Given the description of an element on the screen output the (x, y) to click on. 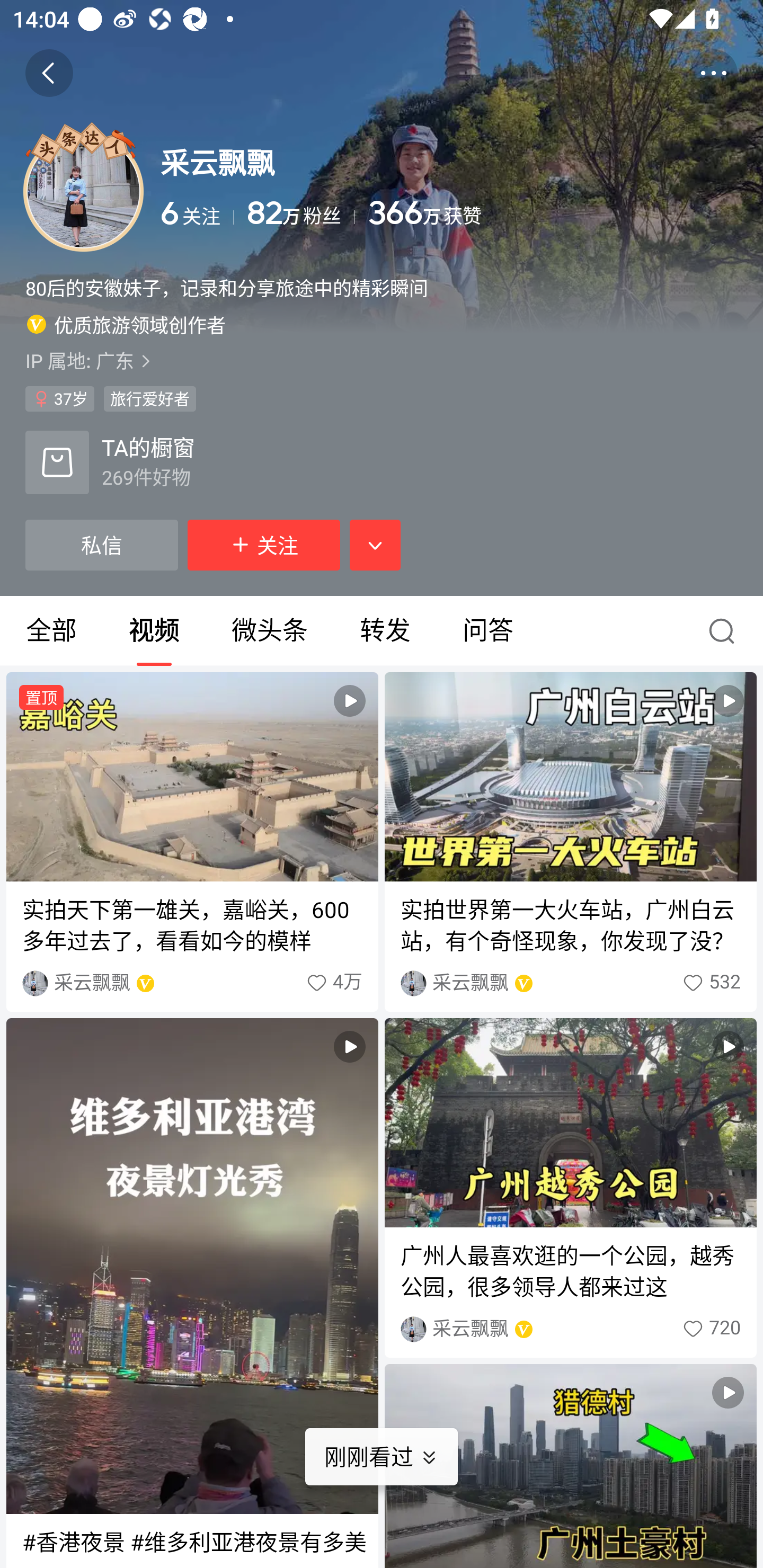
返回 (49, 72)
更多操作 (713, 72)
头像 (83, 191)
6 关注 (197, 213)
82万 粉丝 (300, 213)
366万 获赞 (552, 213)
优质旅游领域创作者 (125, 324)
IP 属地: 广东 (381, 360)
性别女，年龄37岁 37岁 (59, 397)
旅行爱好者 (149, 397)
它的橱窗, 269件好物, 按钮 TA的橱窗 269件好物 (110, 462)
私信 (101, 544)
     关注 (263, 544)
展开相关推荐，按钮 (374, 544)
全部 (51, 630)
视频 (154, 630)
微头条 (269, 630)
转发 (385, 630)
问答 (487, 630)
搜索 (726, 630)
视频 #香港夜景 #维多利亚港夜景有多美  (192, 1292)
视频 (570, 1466)
刚刚看过 (393, 1456)
